Given the description of an element on the screen output the (x, y) to click on. 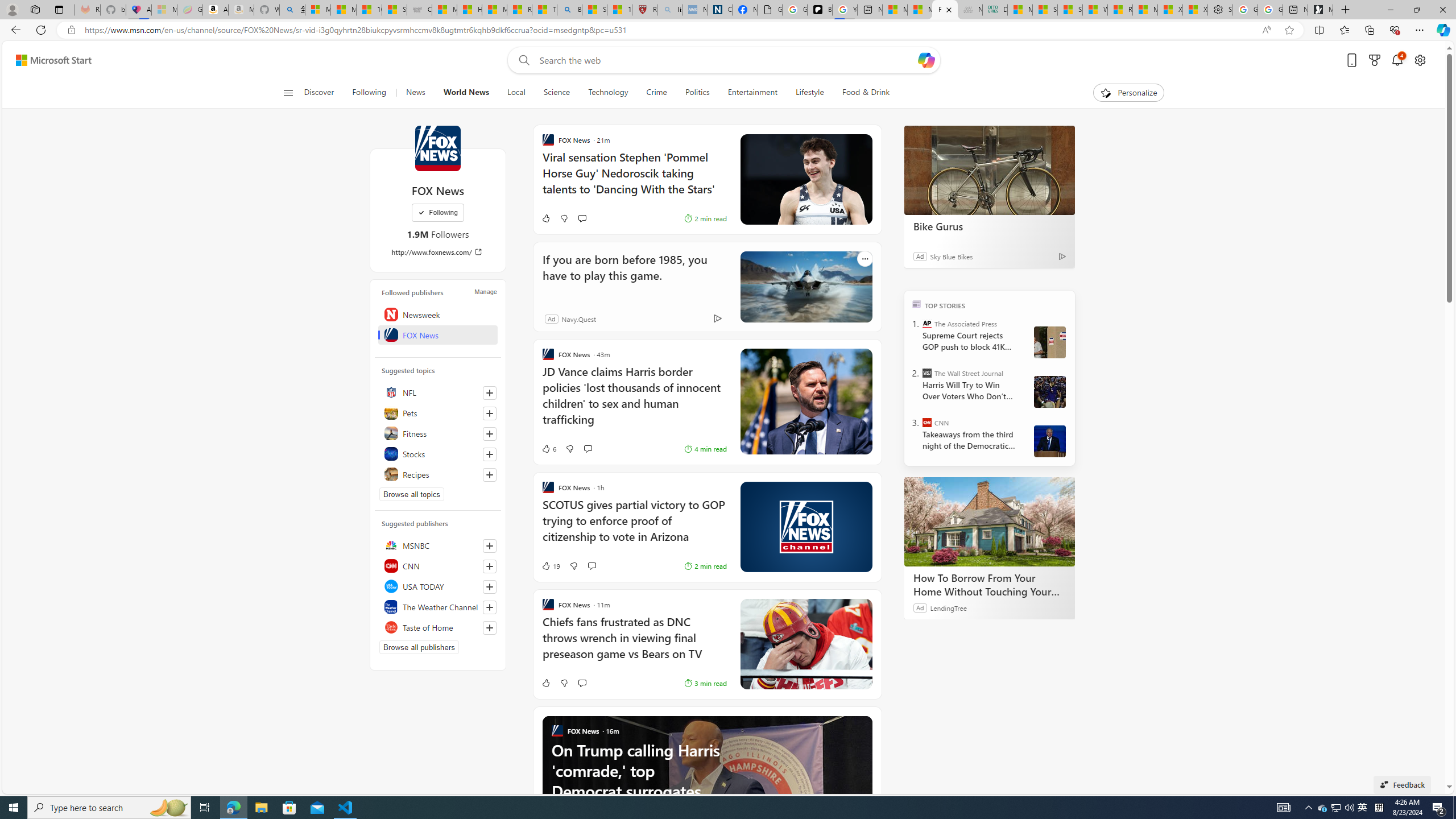
The Wall Street Journal (927, 372)
Recipes (437, 474)
FOX News (437, 334)
Follow this source (489, 627)
Taste of Home (437, 627)
CNN (437, 565)
If you are born before 1985, you have to play this game. (805, 286)
